Given the description of an element on the screen output the (x, y) to click on. 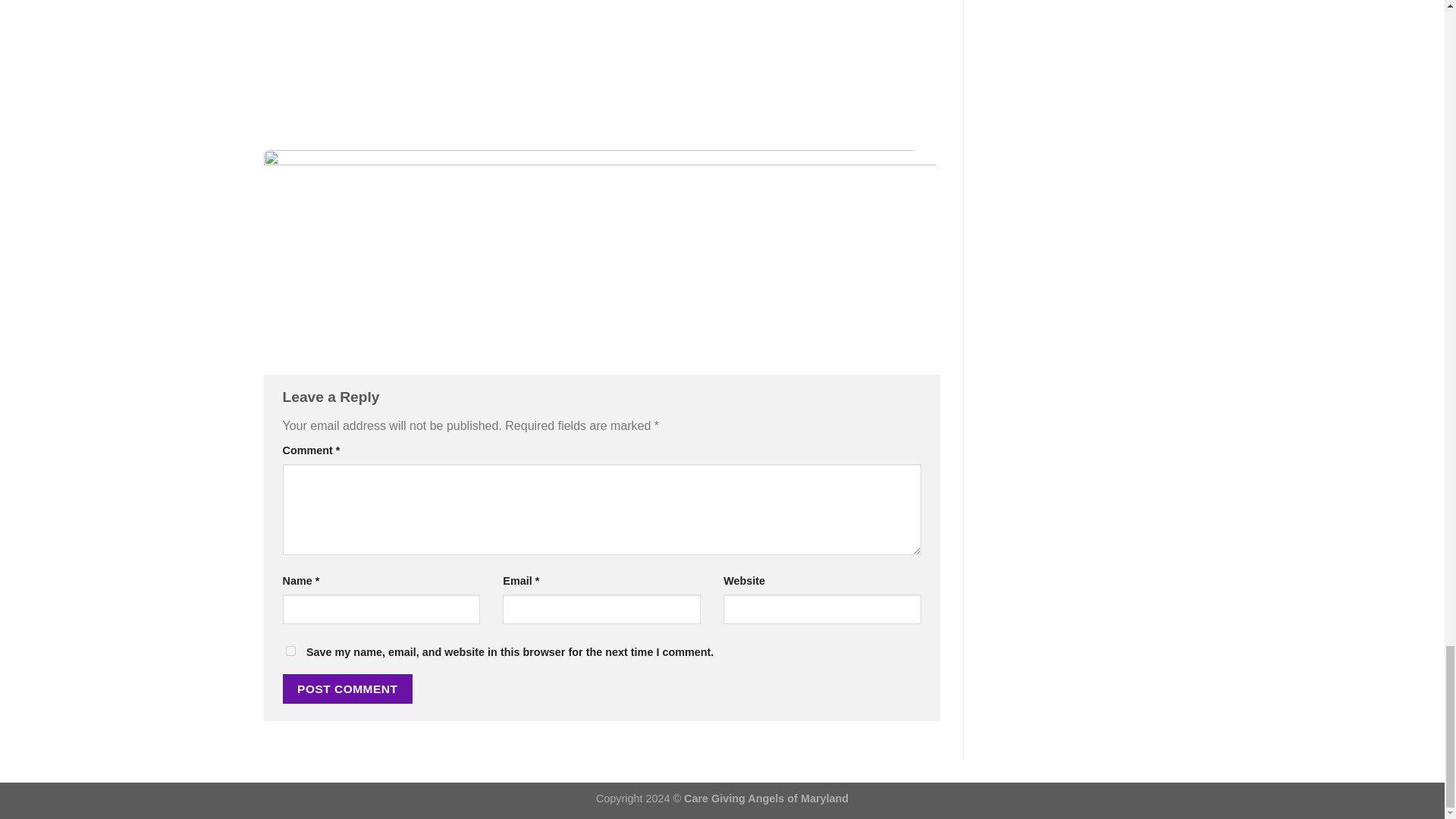
Post Comment (347, 688)
Post Comment (347, 688)
yes (290, 650)
YouTube video player (475, 52)
